Given the description of an element on the screen output the (x, y) to click on. 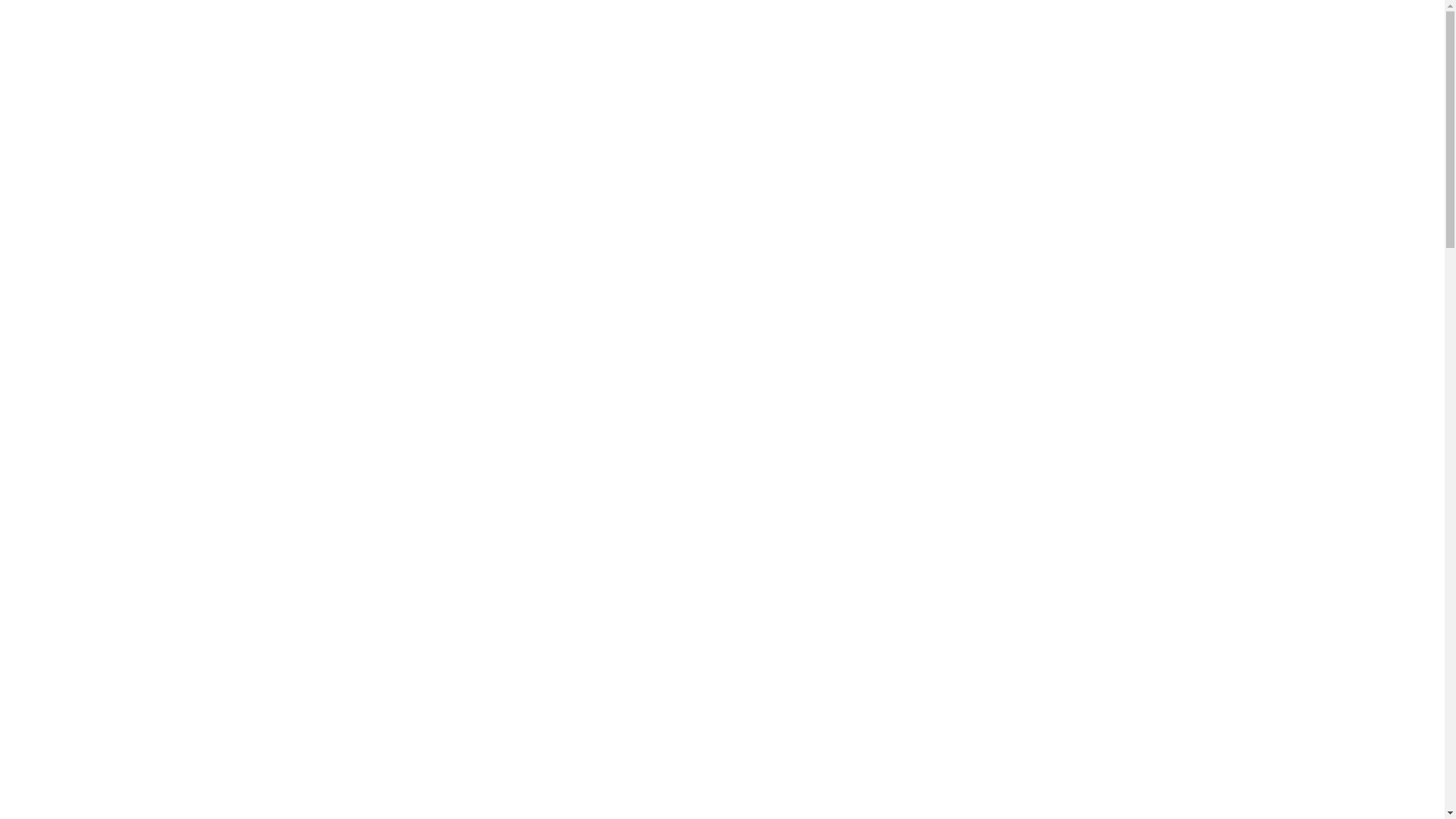
hercegovina@hercegovina.ba Element type: text (579, 32)
Bike Friendly Element type: text (1012, 532)
O nama Element type: text (513, 99)
Kontakt Element type: text (1063, 99)
+387 36 355 090 Element type: text (343, 32)
Novosti Element type: text (912, 99)
Hotel NEUM Element type: text (371, 647)
Home Element type: hover (332, 135)
Multimedija Element type: text (828, 99)
Home Element type: hover (420, 135)
Destinacije Element type: text (736, 99)
+387 36 355 096 Element type: text (446, 32)
INTERAKTIVNA MAPA Element type: text (1072, 31)
